Given the description of an element on the screen output the (x, y) to click on. 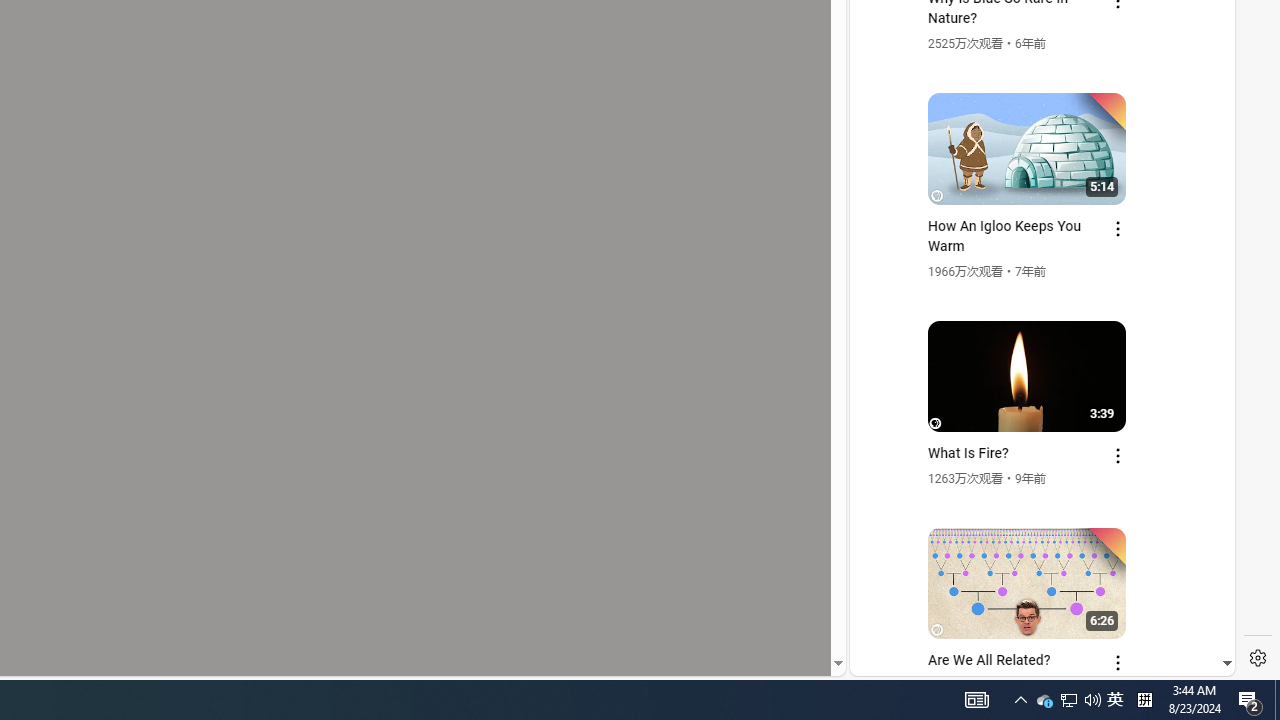
you (1034, 609)
US[ju] (917, 660)
Click to scroll right (1196, 83)
YouTube (1034, 432)
Class: dict_pnIcon rms_img (1028, 660)
